Given the description of an element on the screen output the (x, y) to click on. 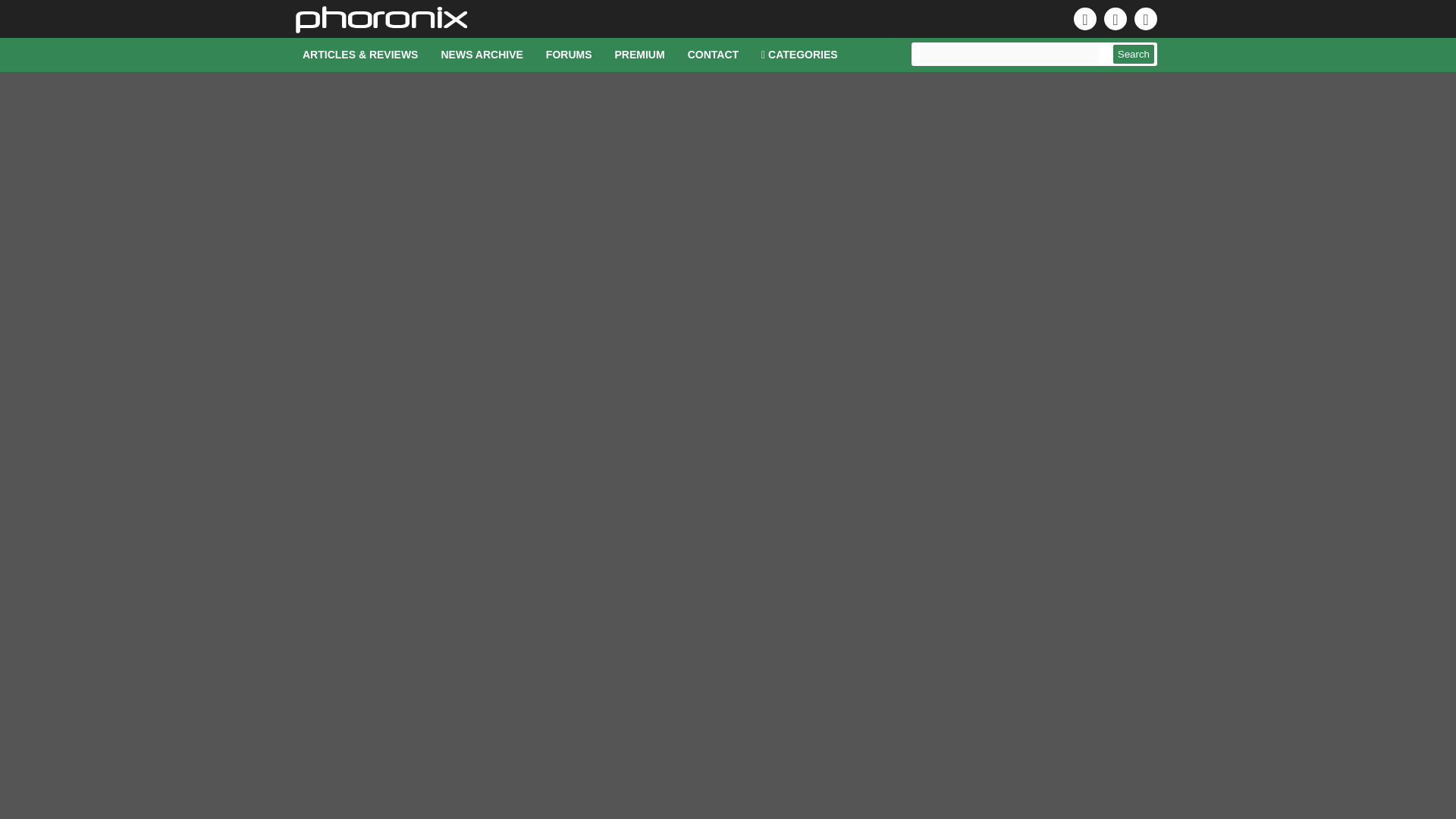
Search (1133, 54)
FORUMS (569, 54)
Search (1133, 54)
NEWS ARCHIVE (481, 54)
CONTACT (713, 54)
PREMIUM (640, 54)
